Given the description of an element on the screen output the (x, y) to click on. 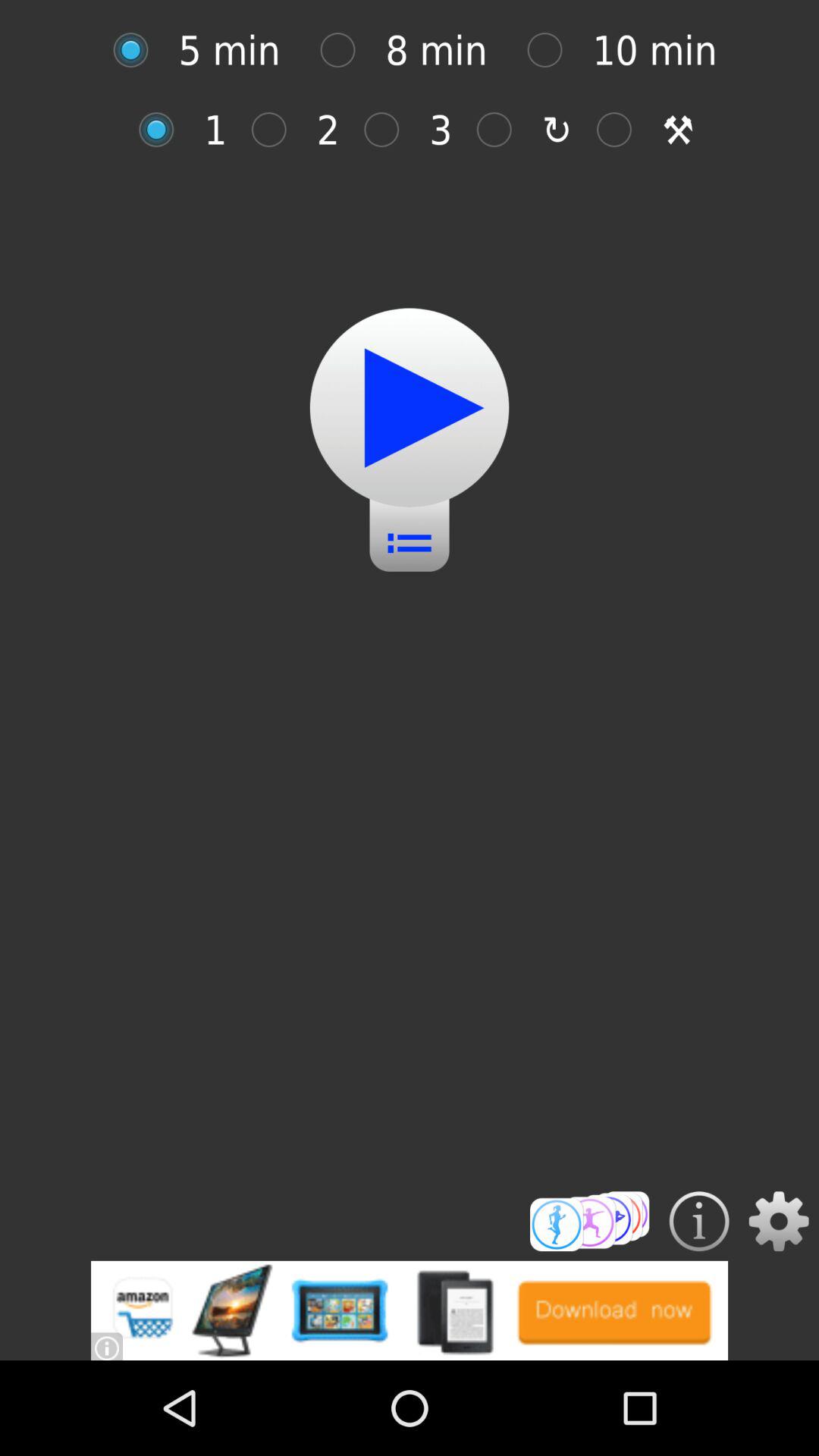
play option (409, 407)
